Given the description of an element on the screen output the (x, y) to click on. 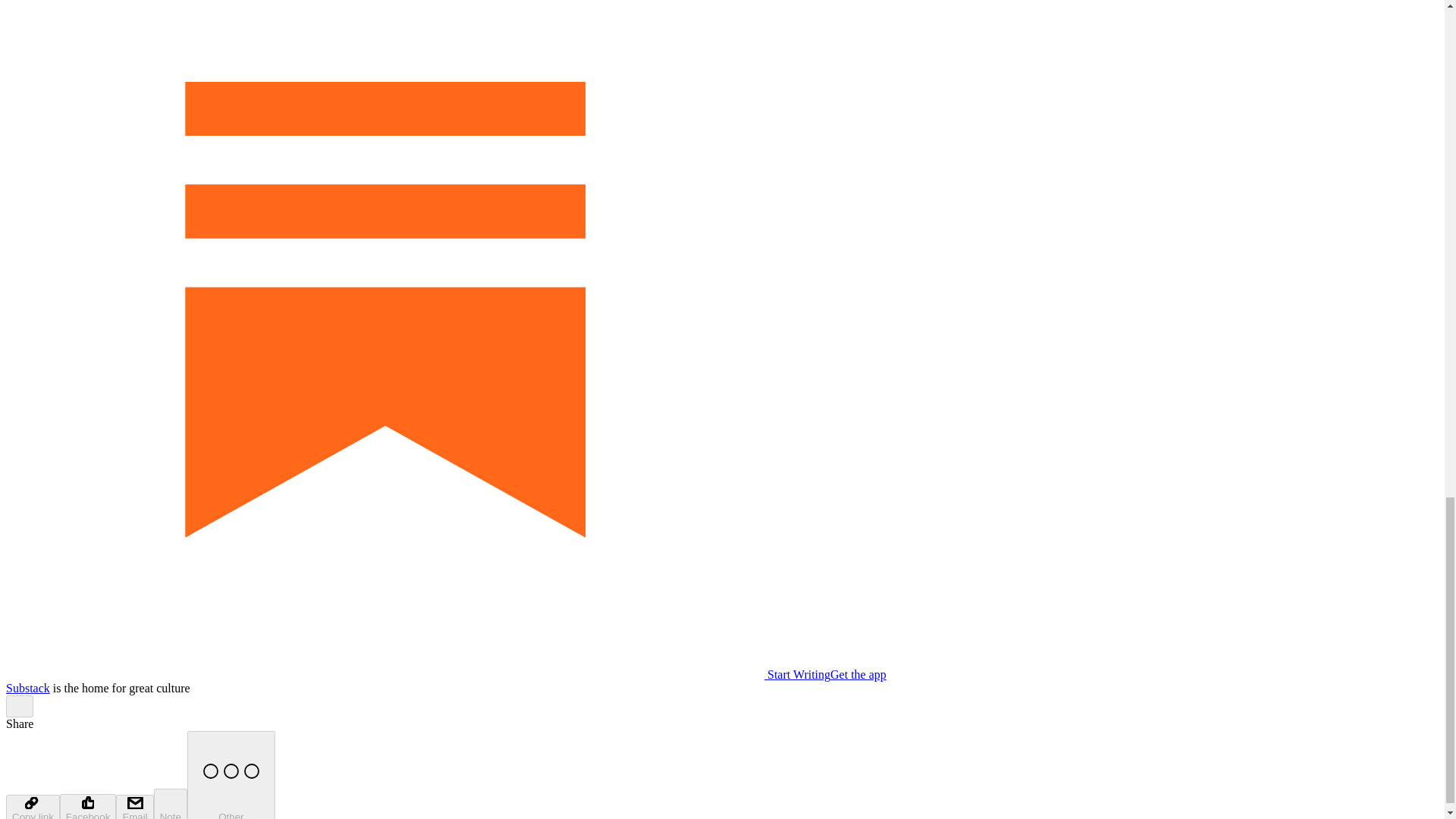
Substack (27, 687)
Start Writing (417, 674)
Get the app (857, 674)
